Given the description of an element on the screen output the (x, y) to click on. 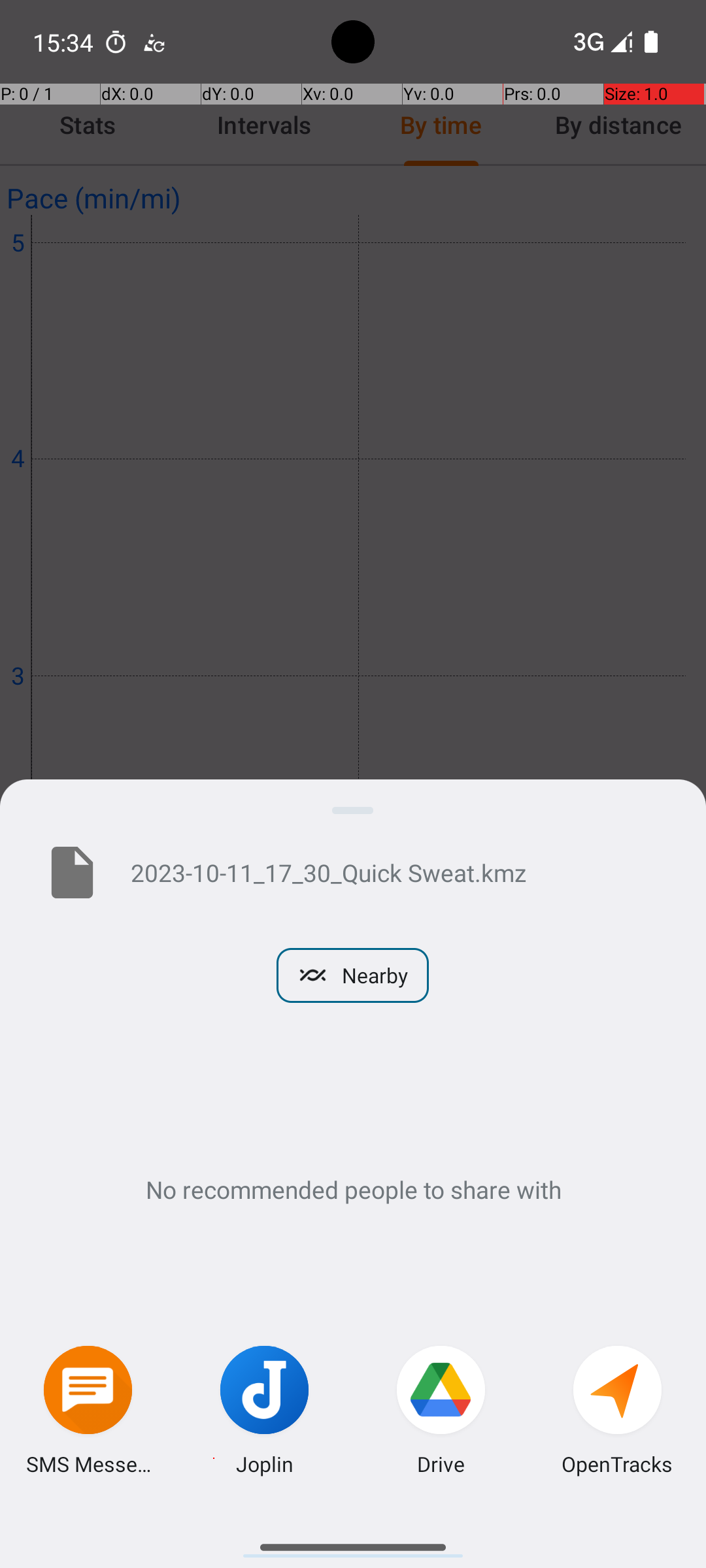
2023-10-11_17_30_Quick Sweat.kmz Element type: android.widget.TextView (397, 872)
